Given the description of an element on the screen output the (x, y) to click on. 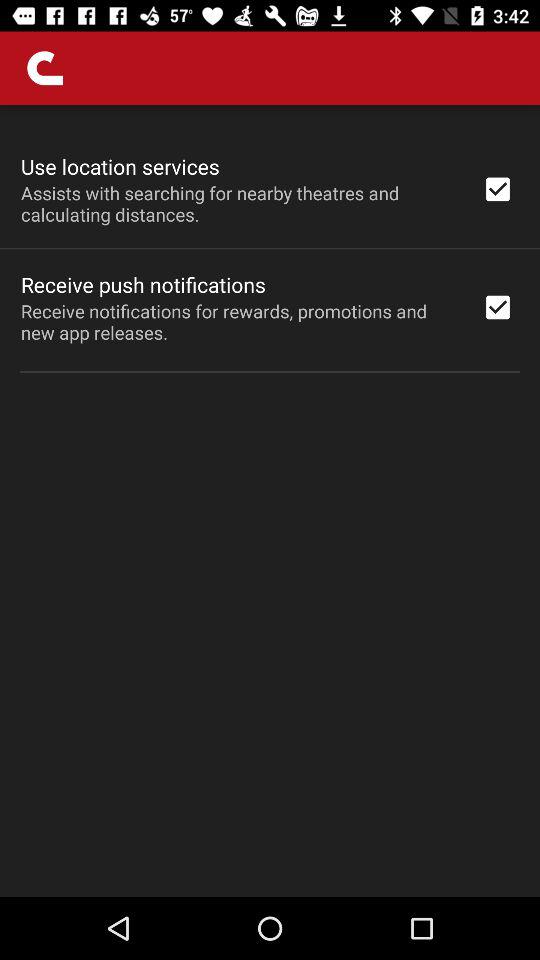
launch the assists with searching icon (238, 203)
